Given the description of an element on the screen output the (x, y) to click on. 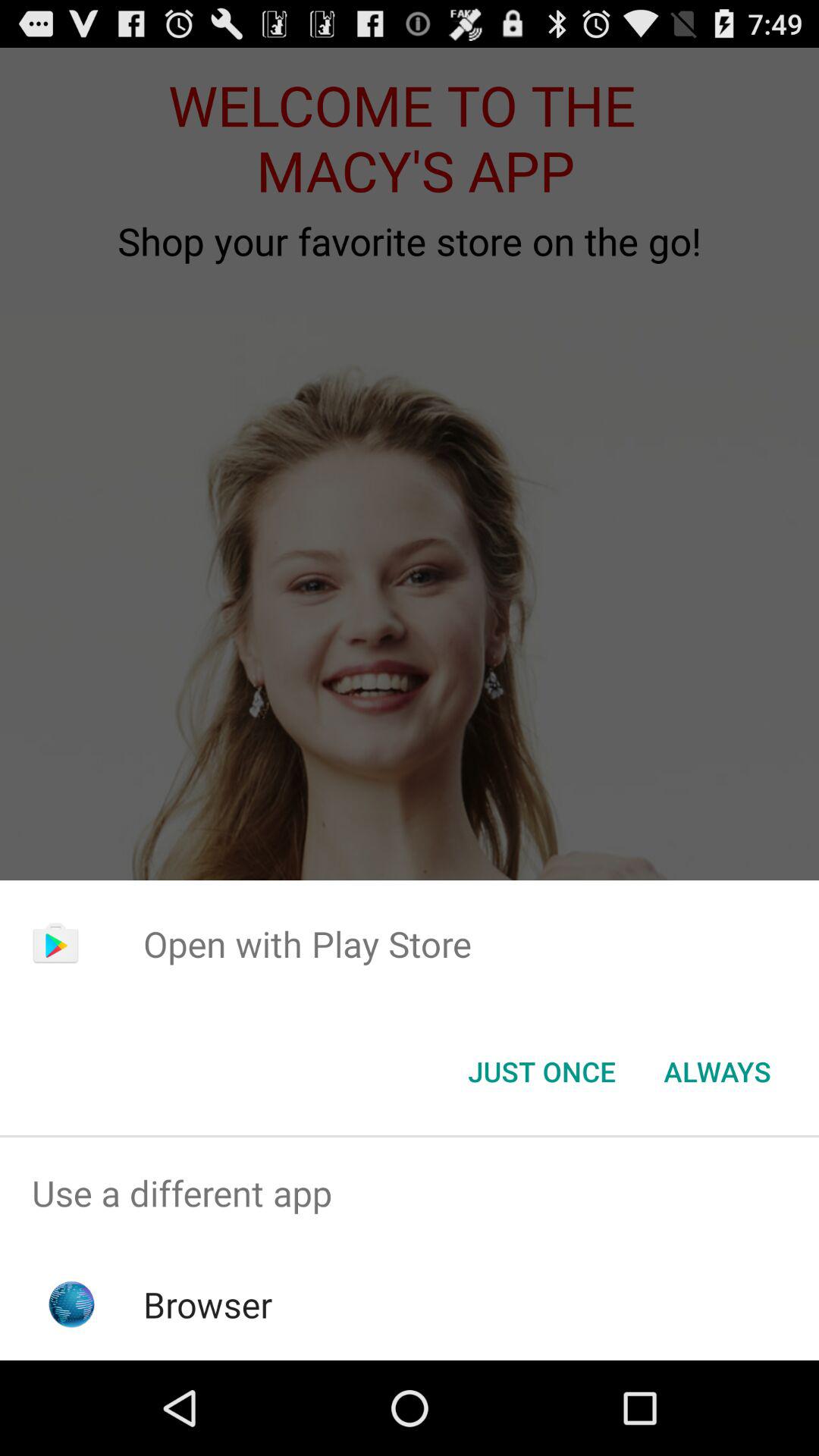
click the icon below the open with play icon (541, 1071)
